Given the description of an element on the screen output the (x, y) to click on. 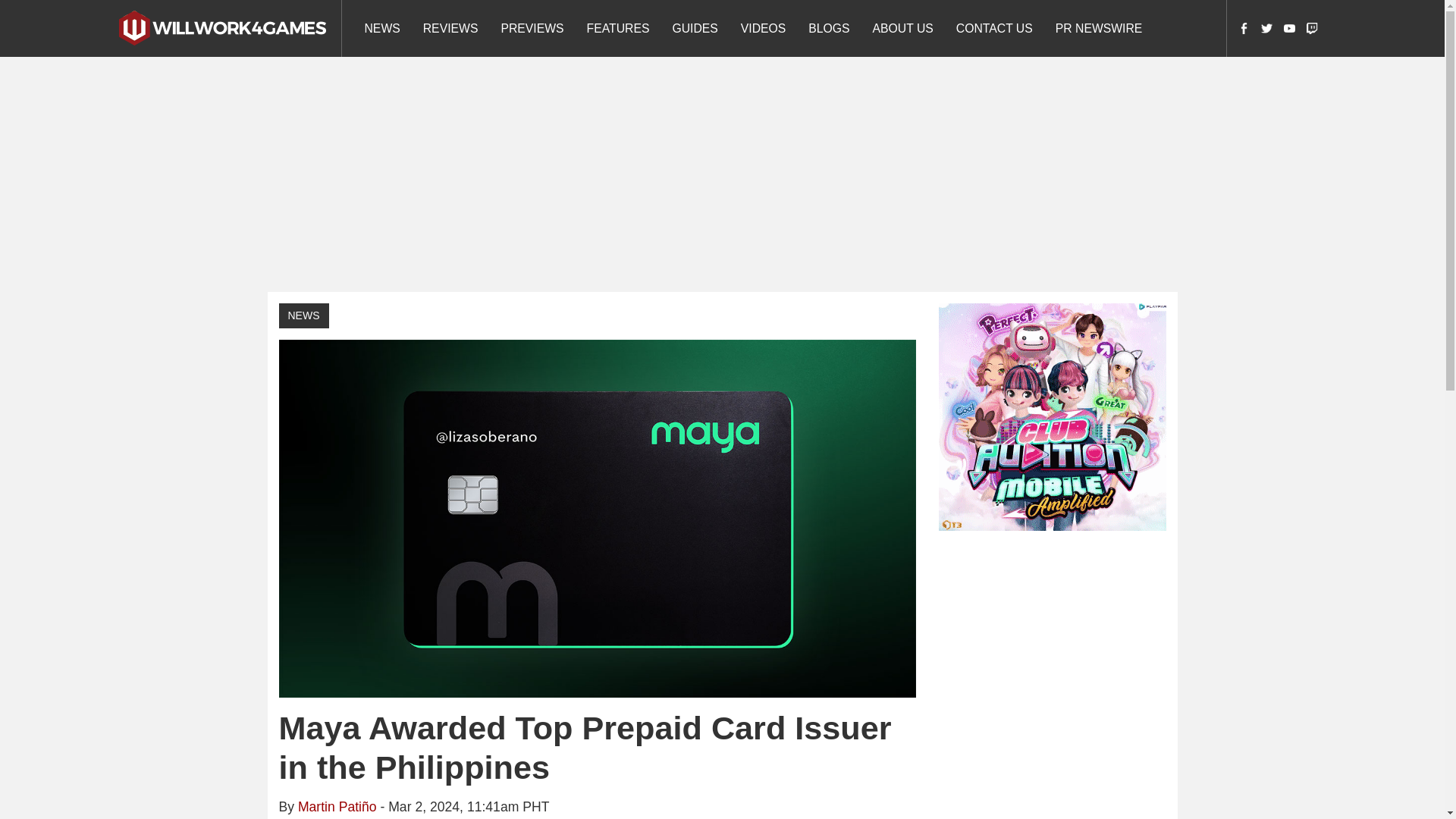
CONTACT US (993, 28)
VIDEOS (763, 28)
NEWS (382, 28)
REVIEWS (450, 28)
Club Audition Mobile Amplified (1052, 416)
FEATURES (618, 28)
GUIDES (695, 28)
NEWS (304, 315)
ABOUT US (902, 28)
PREVIEWS (532, 28)
BLOGS (828, 28)
PR NEWSWIRE (1098, 28)
